Given the description of an element on the screen output the (x, y) to click on. 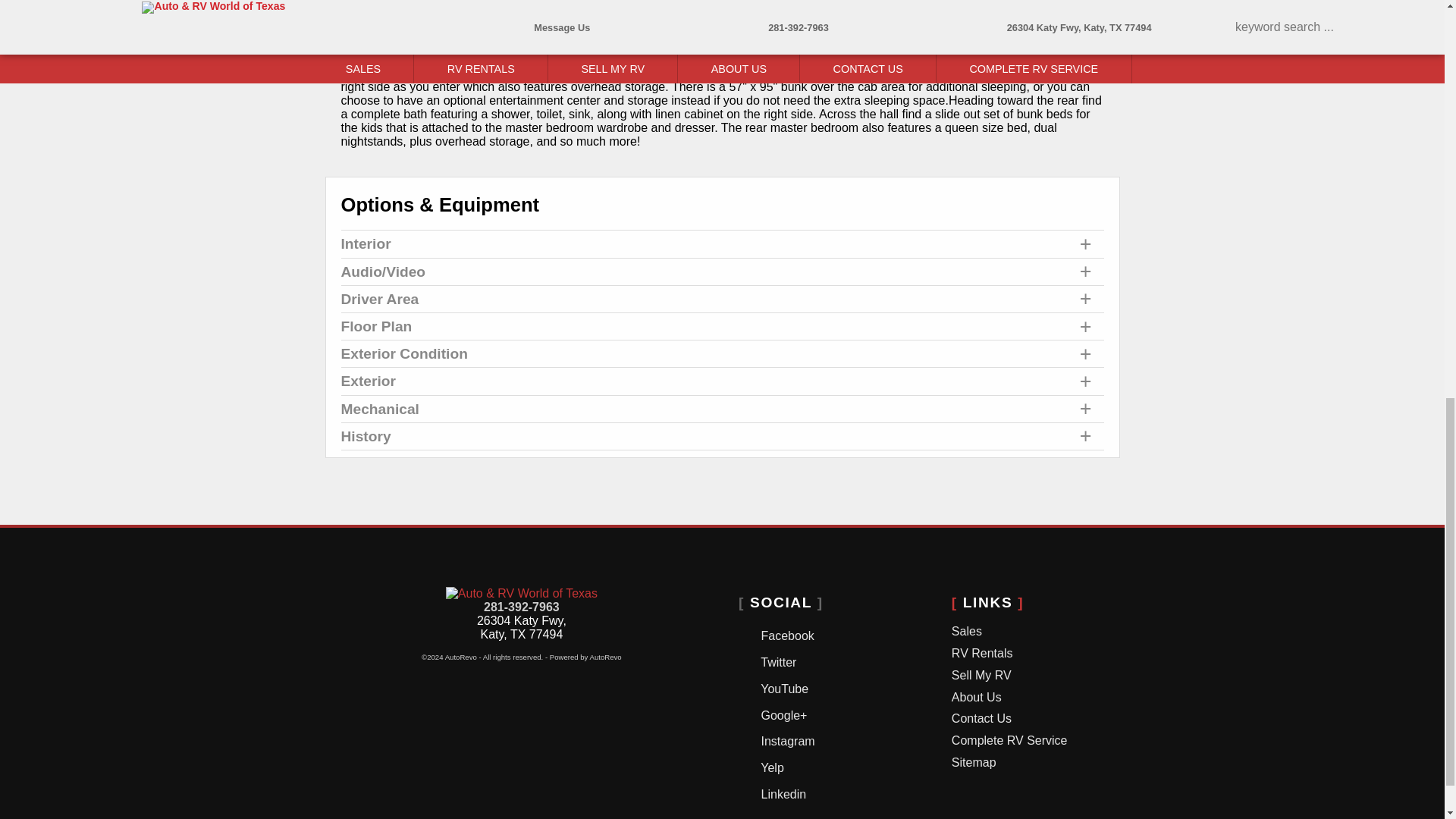
281-392-7963 (521, 606)
Sell My RV (1050, 676)
About Us (1050, 698)
Instagram (836, 739)
Linkedin (836, 792)
Facebook (836, 633)
Powered by AutoRevo (585, 656)
RV Rentals (1050, 653)
Twitter (836, 660)
Sitemap (1050, 762)
